Given the description of an element on the screen output the (x, y) to click on. 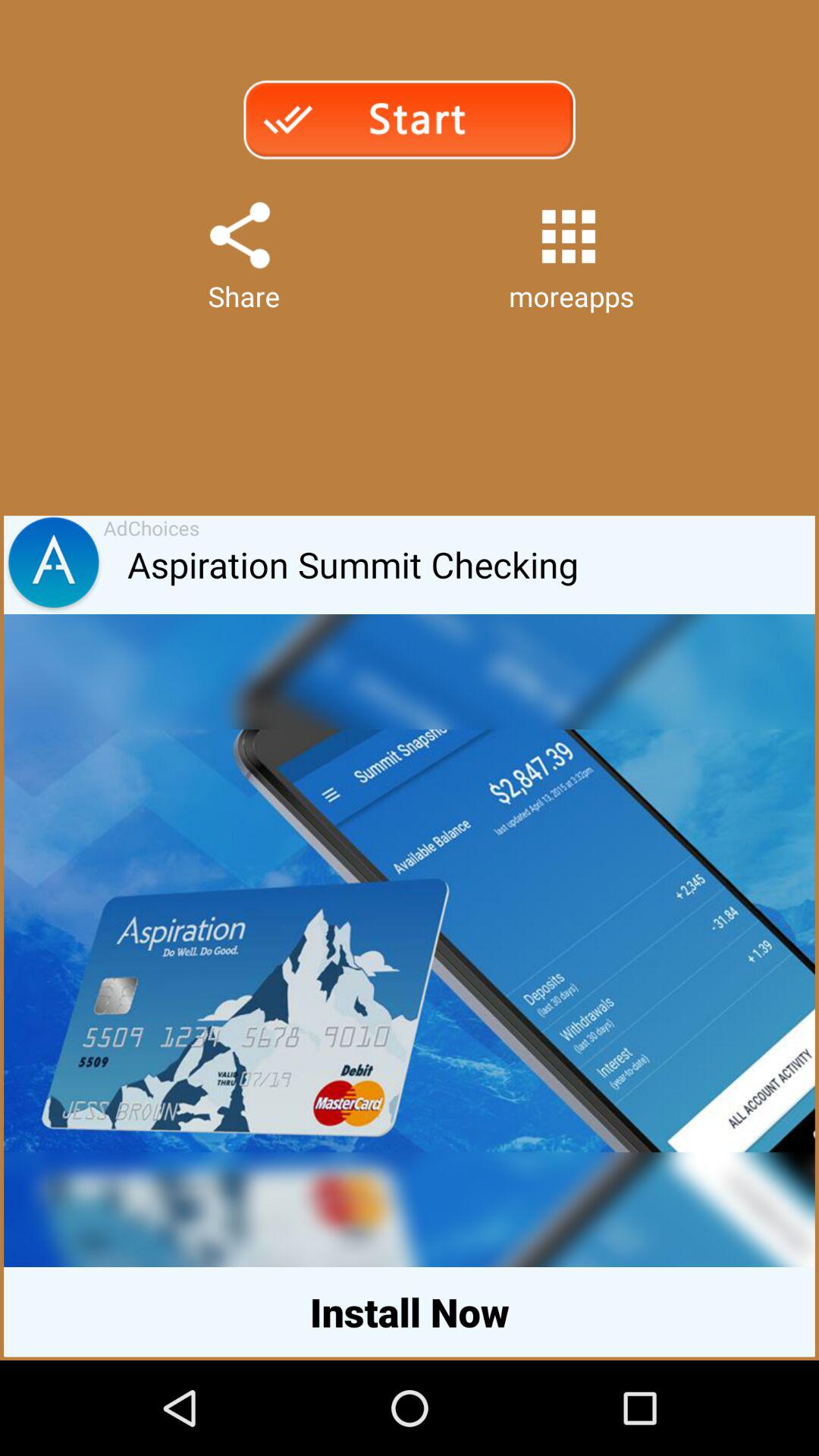
turn on install now (409, 1312)
